Given the description of an element on the screen output the (x, y) to click on. 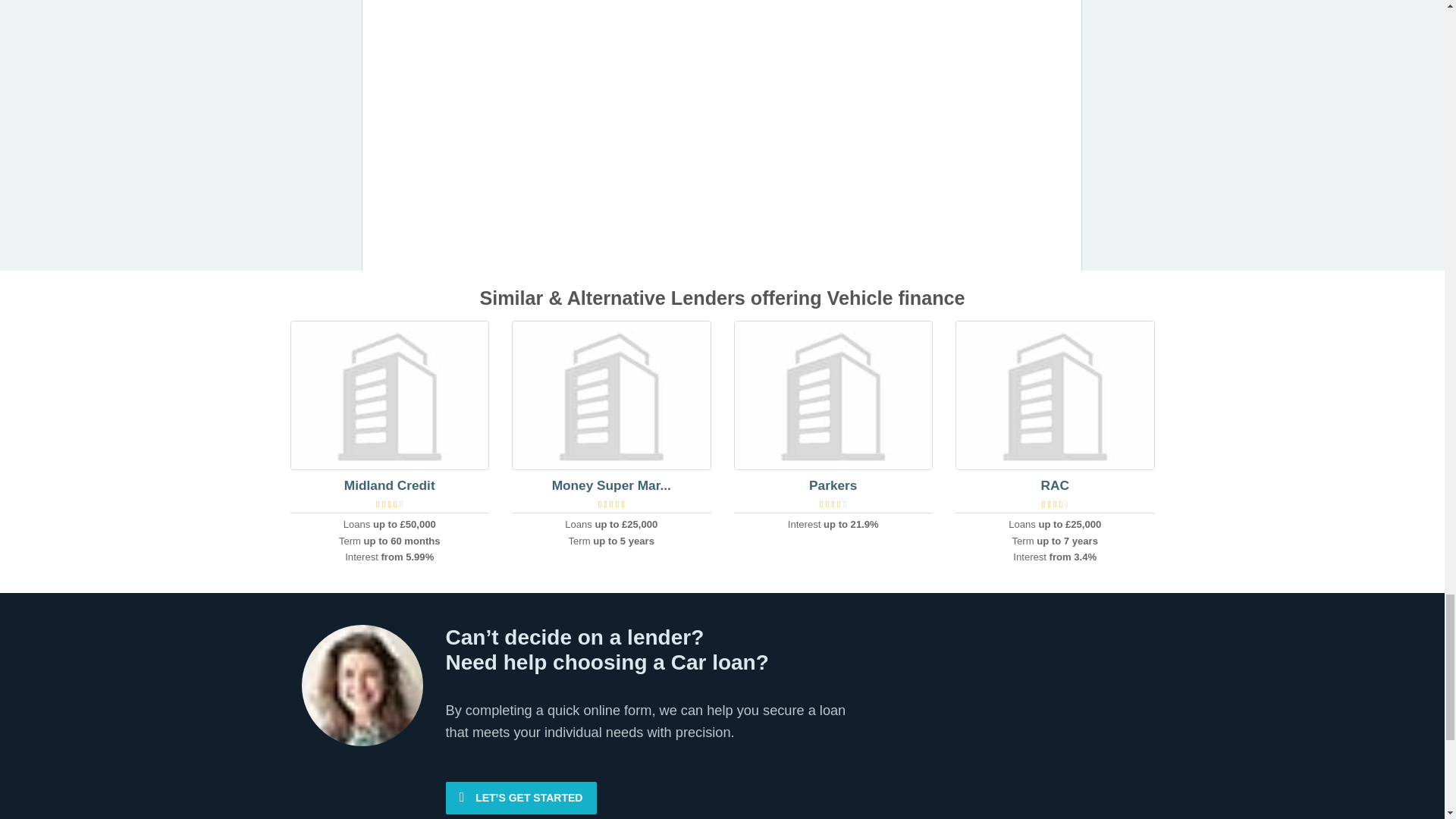
Money Super Mar... (611, 484)
Midland Credit (389, 484)
RAC (1054, 484)
Parkers (833, 484)
